Given the description of an element on the screen output the (x, y) to click on. 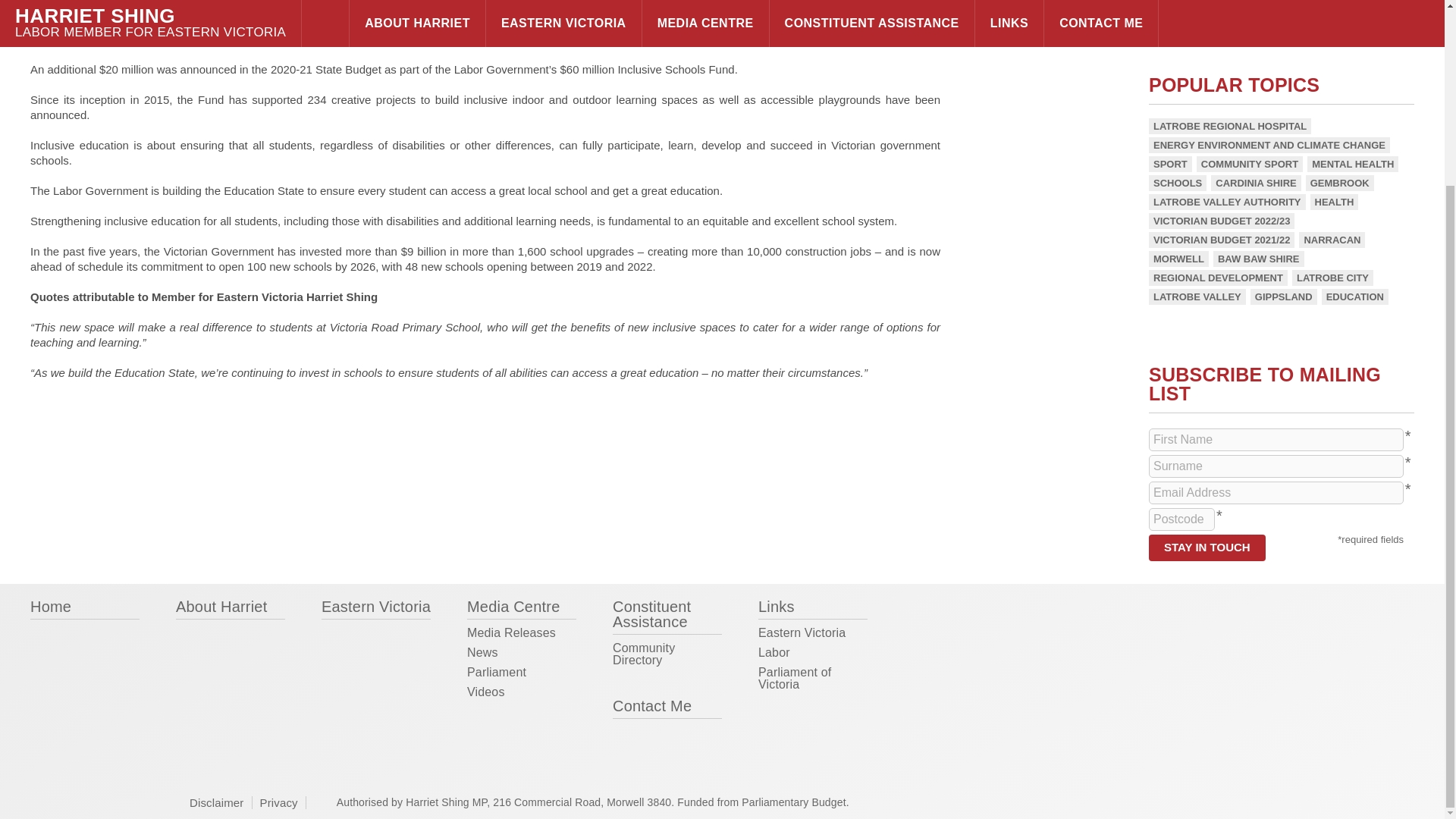
First Name (1275, 439)
Postcode (1181, 518)
Surname (1275, 466)
Email Address (1275, 492)
